Given the description of an element on the screen output the (x, y) to click on. 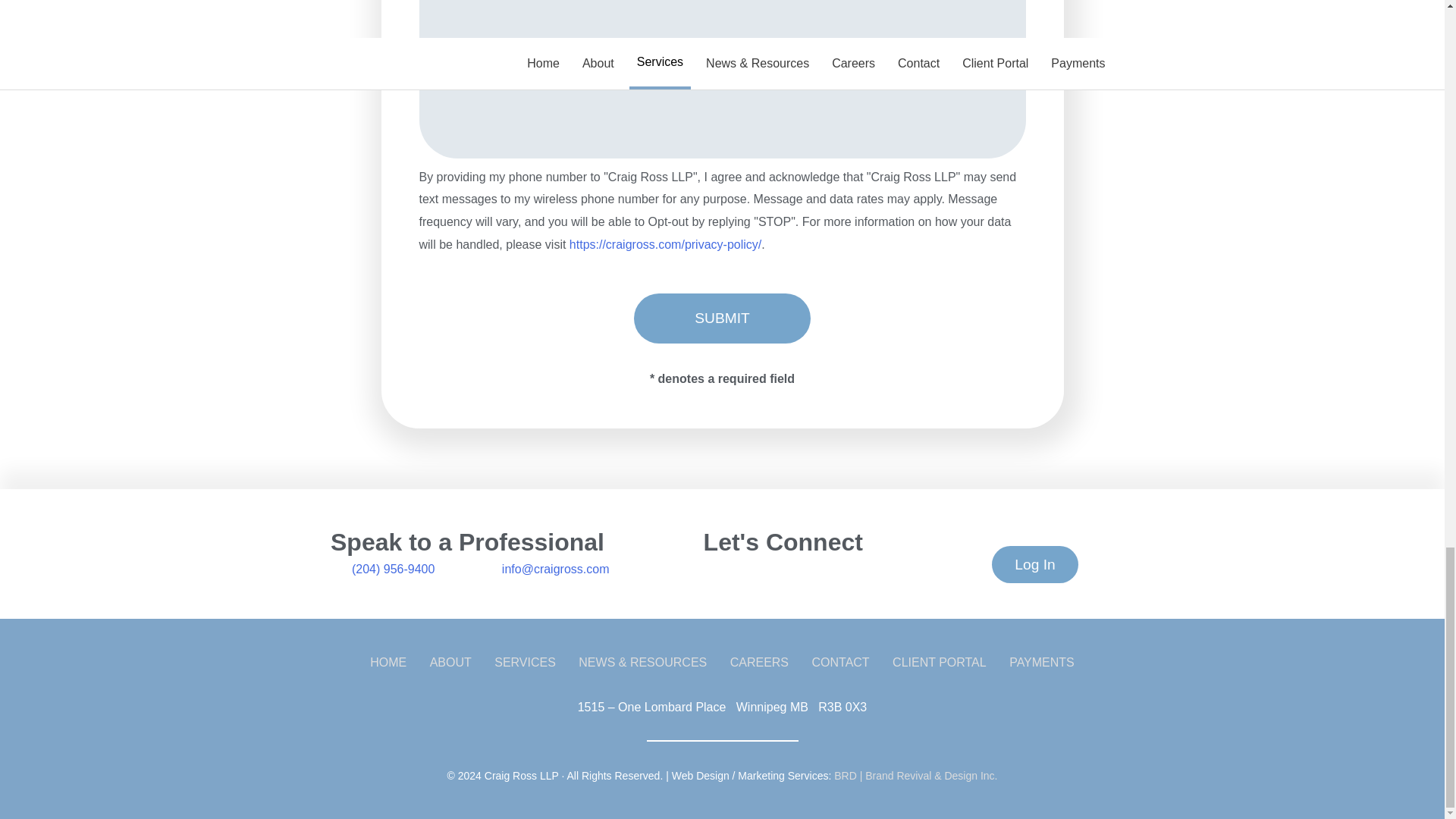
Submit (721, 318)
HOME (390, 662)
SERVICES (524, 662)
CLIENT PORTAL (939, 662)
CONTACT (840, 662)
ABOUT (450, 662)
PAYMENTS (1038, 662)
CAREERS (758, 662)
Submit (721, 318)
Log In (1034, 564)
